Given the description of an element on the screen output the (x, y) to click on. 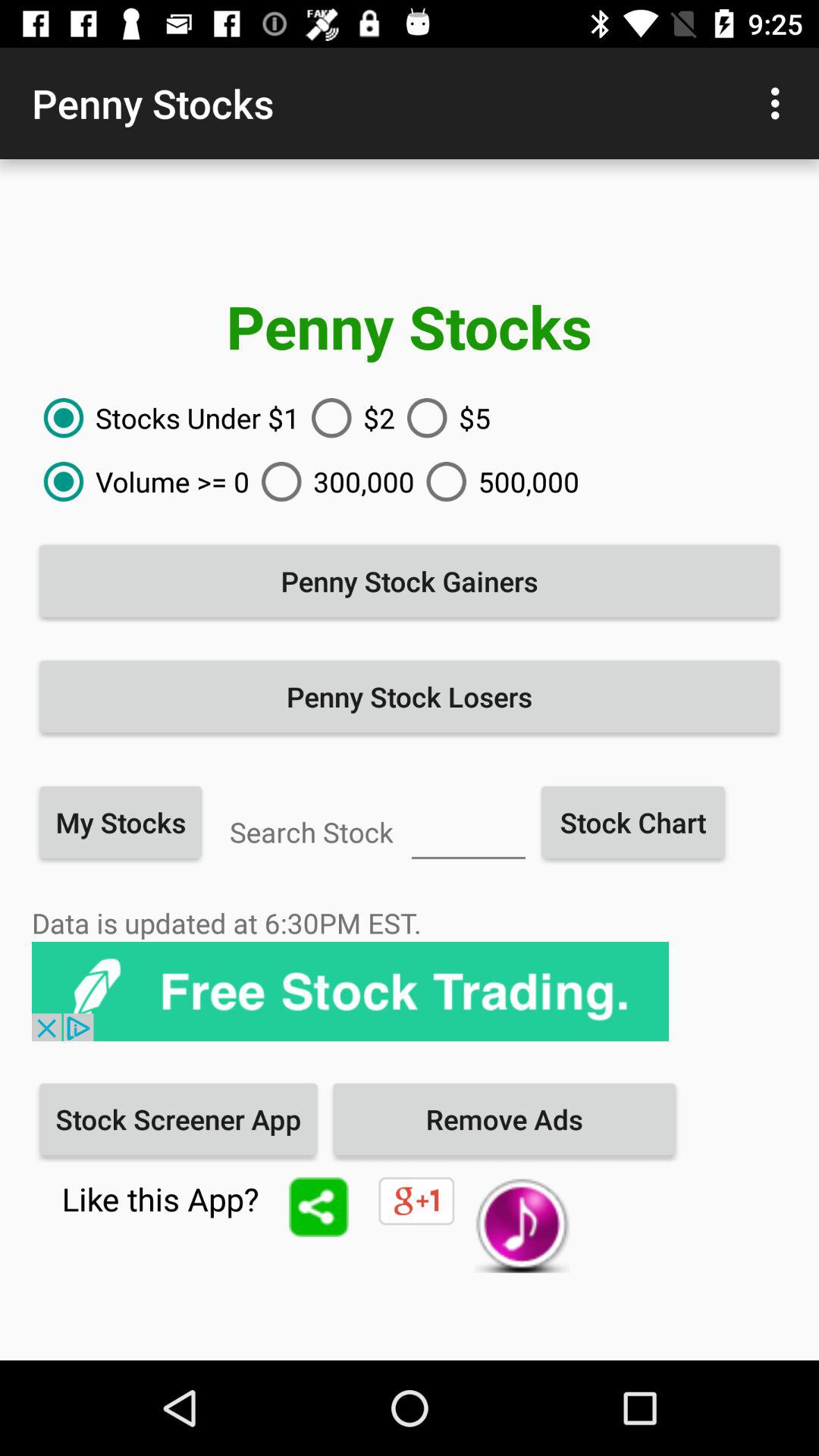
flip until the $2 item (347, 417)
